Given the description of an element on the screen output the (x, y) to click on. 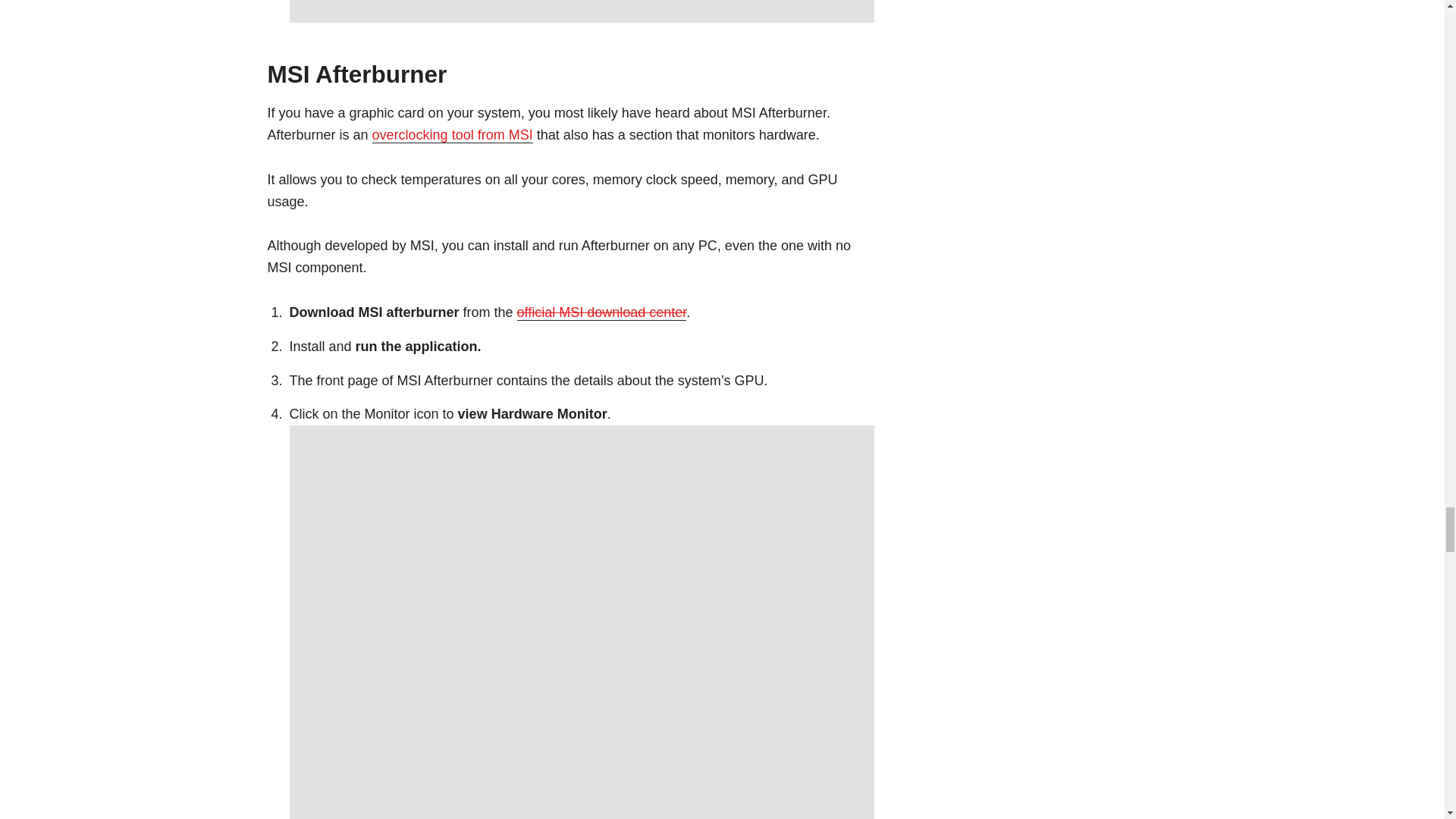
8 Best Tools To Monitor CPU Temperature 25 (582, 11)
